Given the description of an element on the screen output the (x, y) to click on. 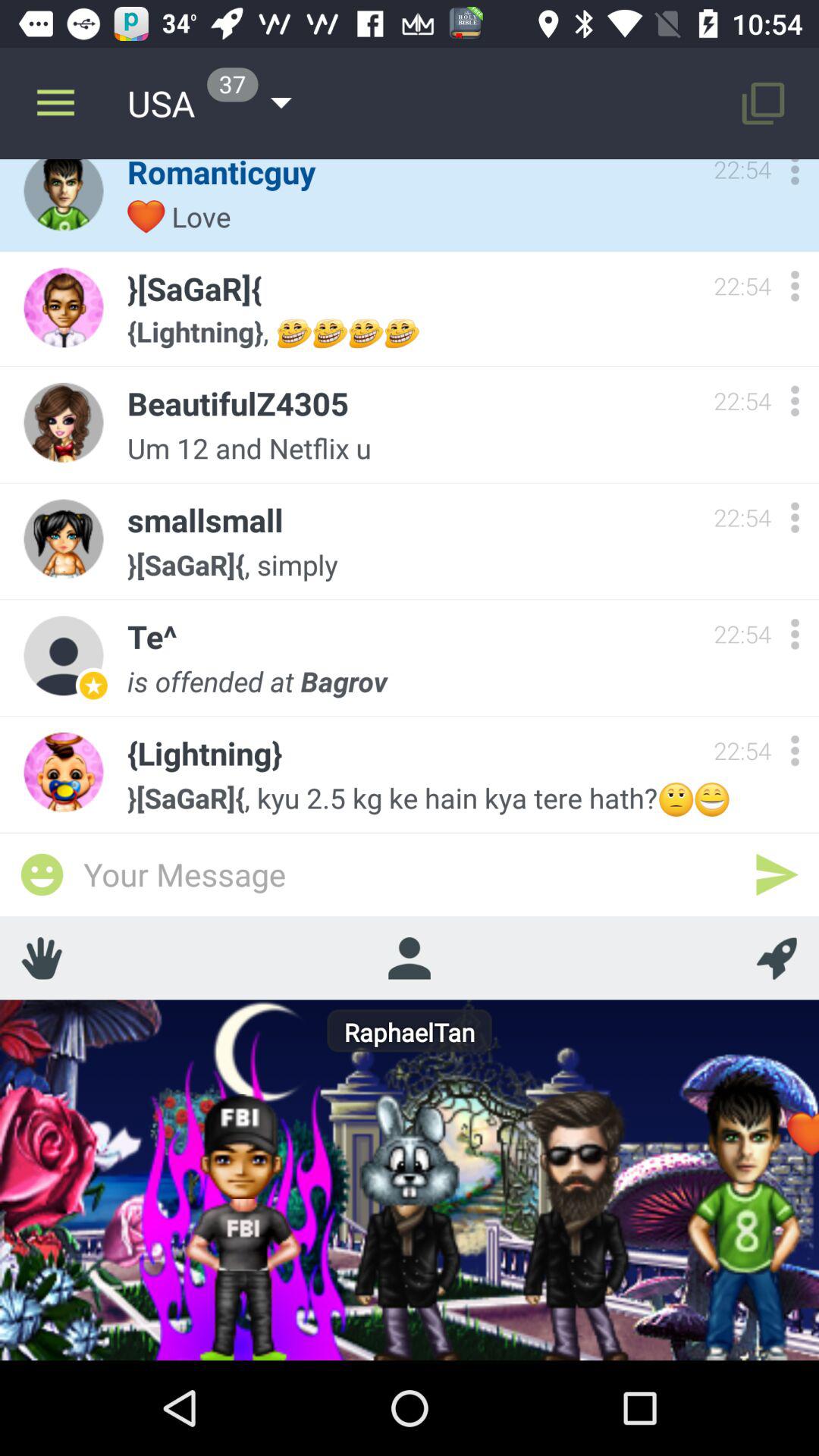
shows menu option button (795, 517)
